Given the description of an element on the screen output the (x, y) to click on. 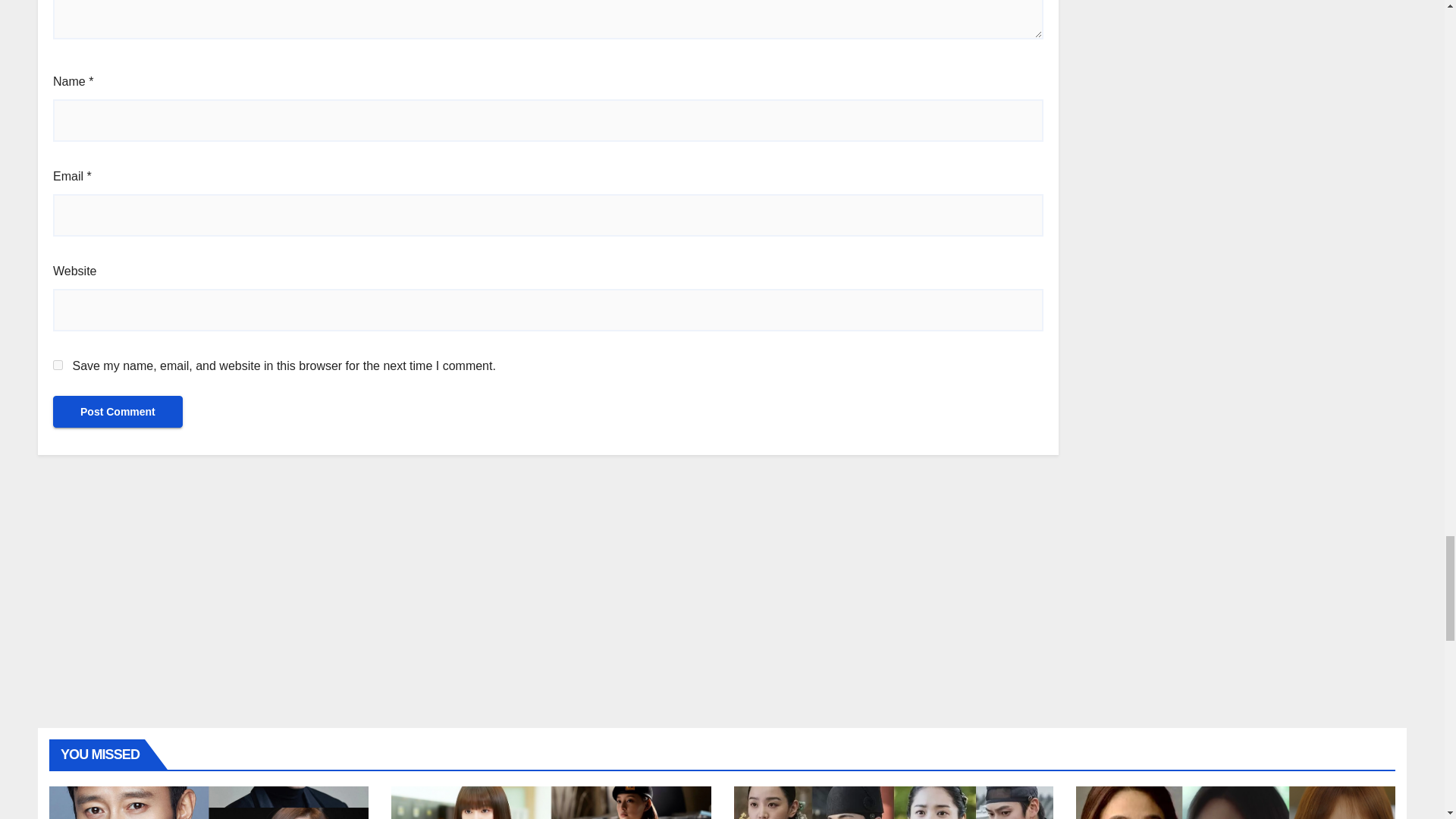
Post Comment (117, 411)
yes (57, 365)
